Given the description of an element on the screen output the (x, y) to click on. 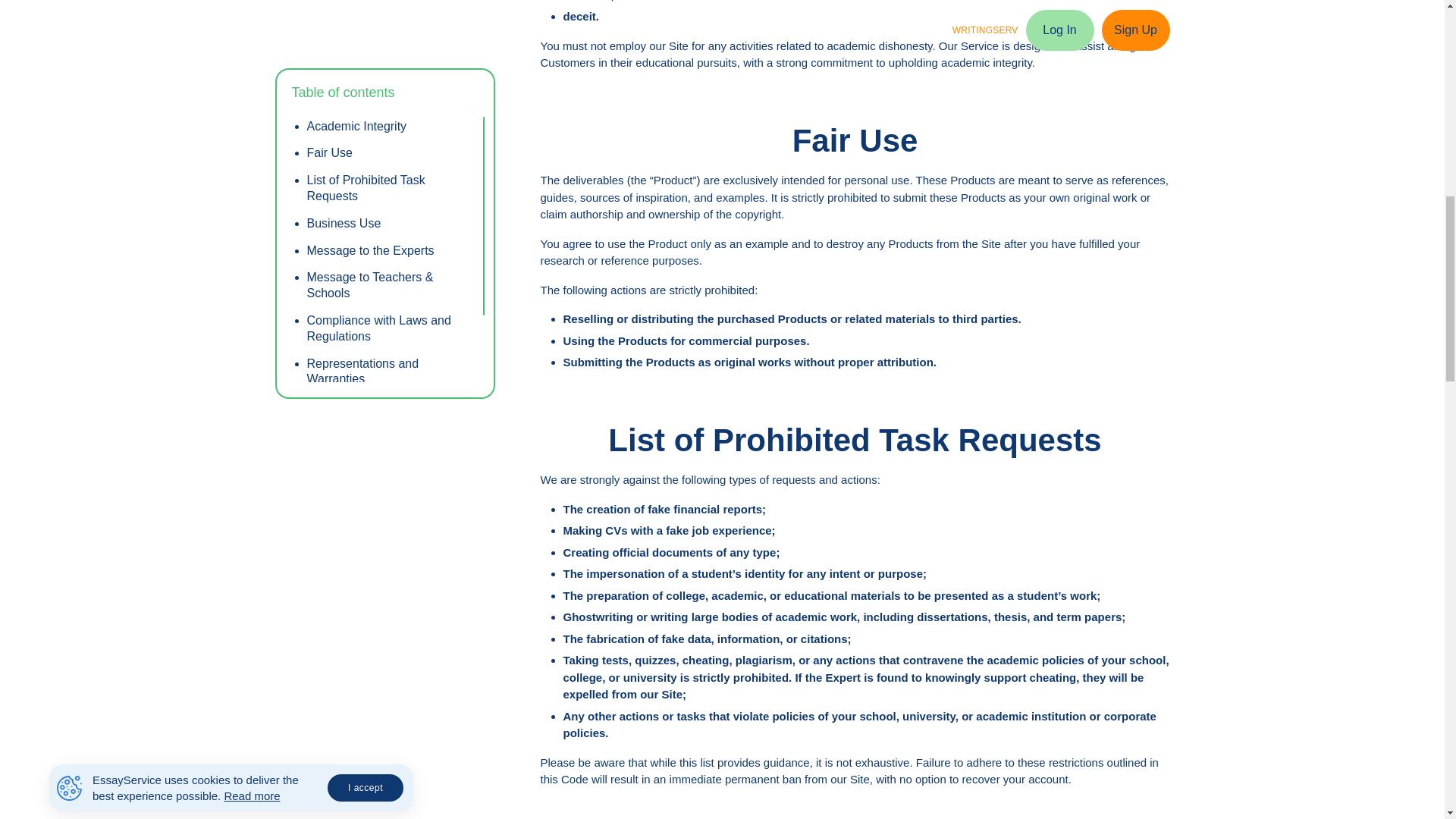
Code Updates (389, 109)
Representations and Warranties (389, 47)
Compliance with Laws and Regulations (389, 10)
Disclaimer (389, 82)
